Given the description of an element on the screen output the (x, y) to click on. 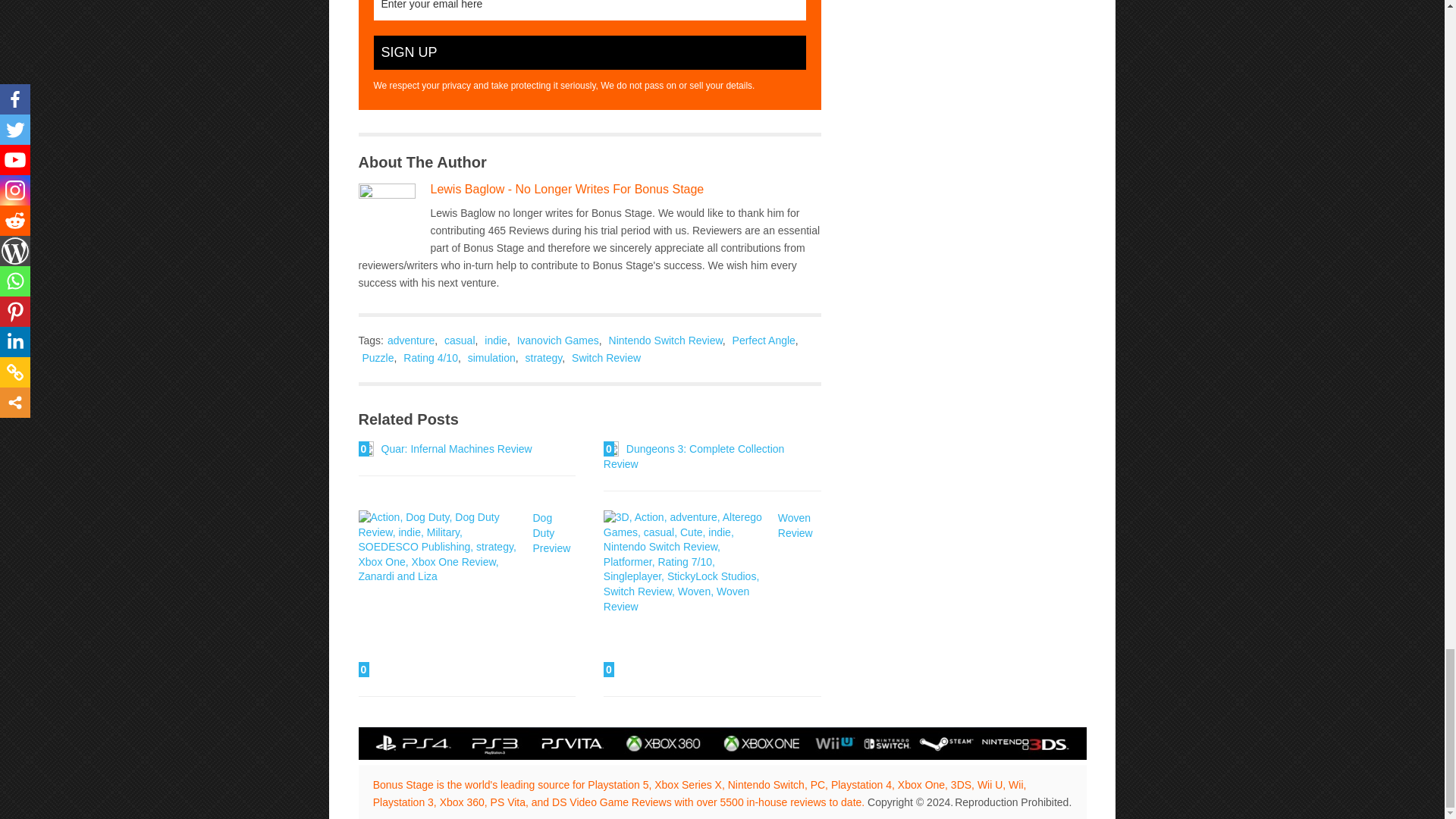
Sign Up (588, 52)
